Given the description of an element on the screen output the (x, y) to click on. 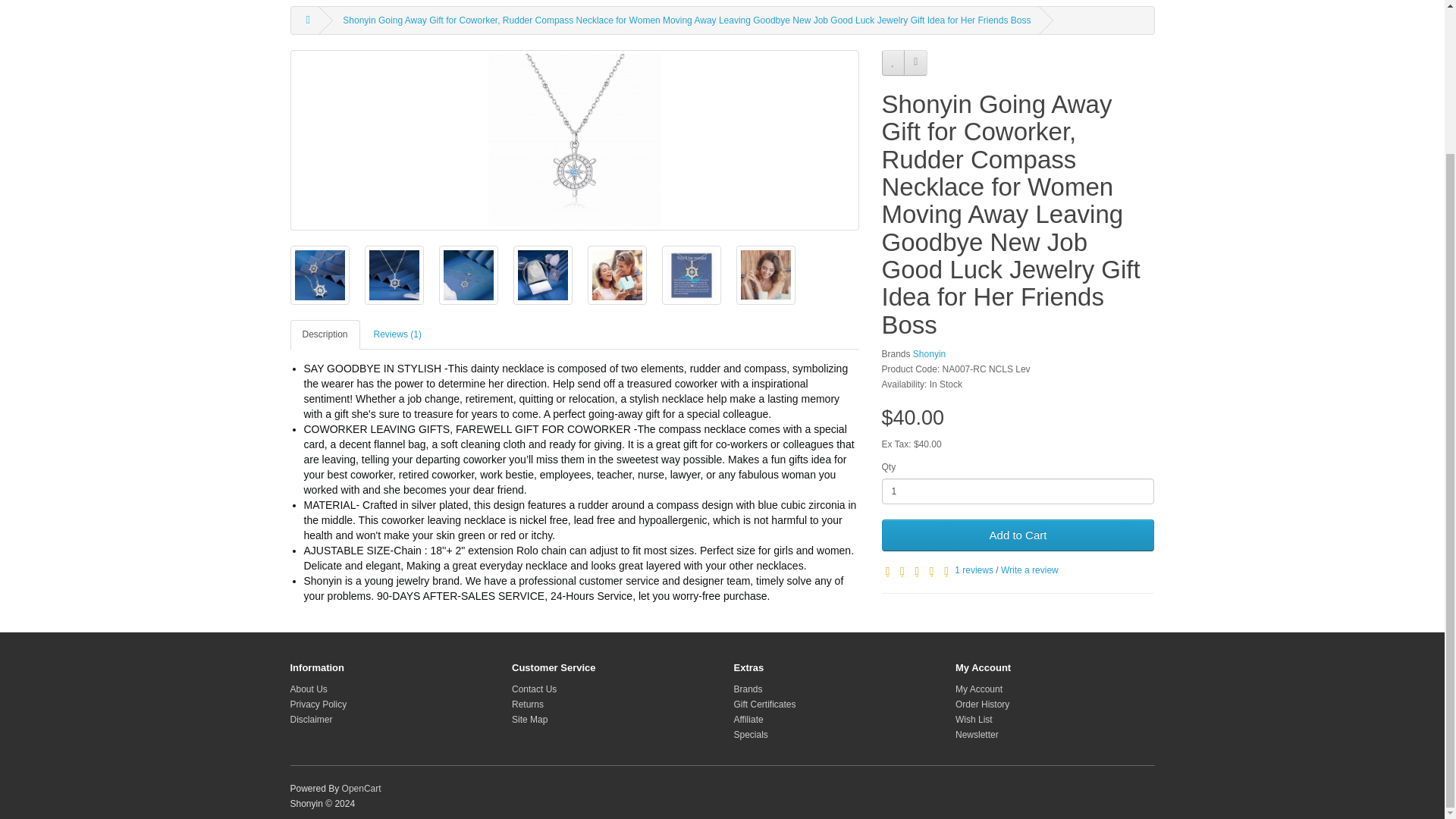
1 reviews (973, 570)
Description (324, 334)
1 (1017, 491)
